Given the description of an element on the screen output the (x, y) to click on. 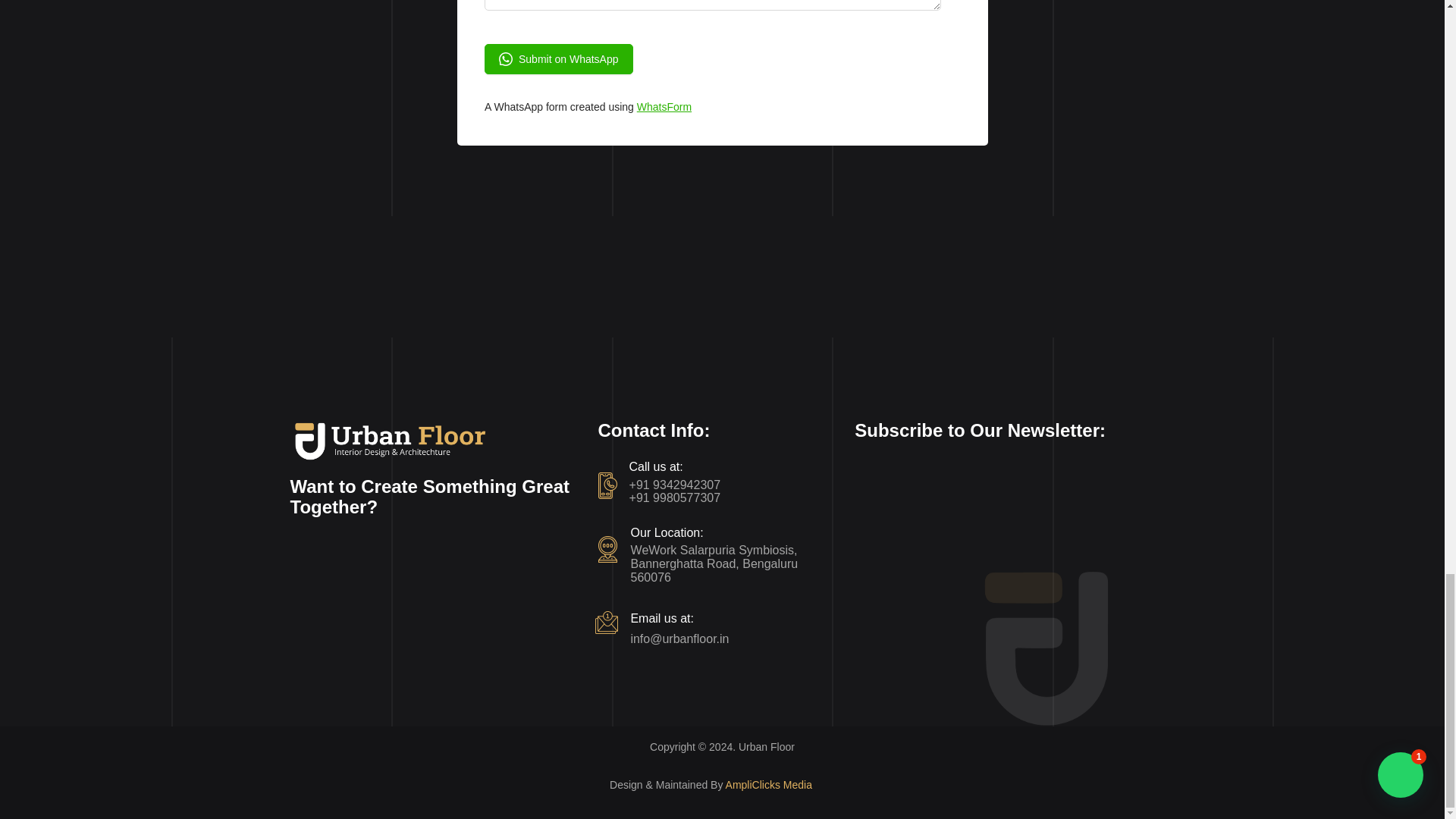
AmpliClicks Media (768, 784)
